Given the description of an element on the screen output the (x, y) to click on. 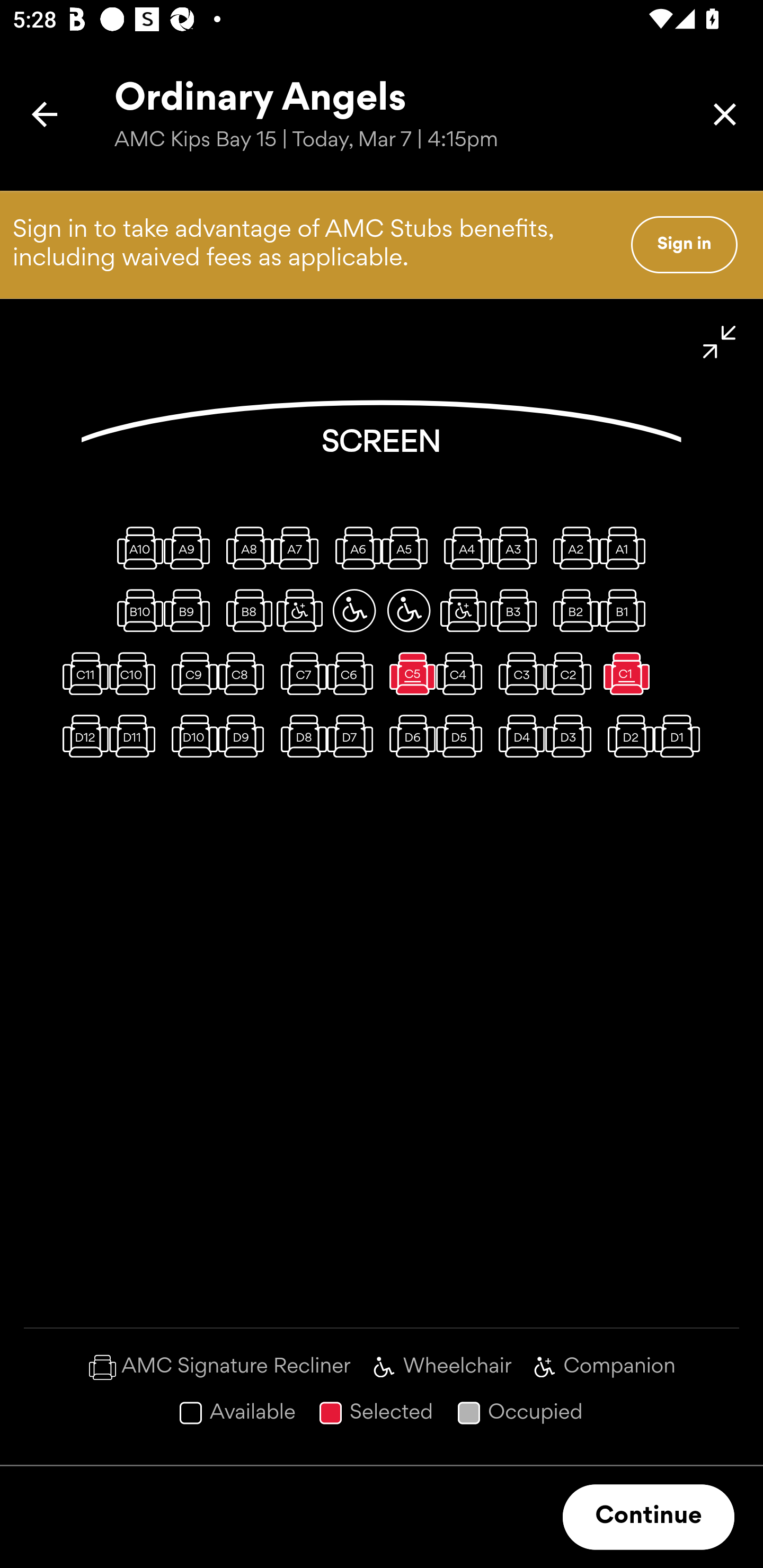
Back (44, 114)
Close (724, 114)
Sign in (684, 244)
Minimize (719, 342)
A10, Regular seat, available (136, 547)
A9, Regular seat, available (190, 547)
A8, Regular seat, available (244, 547)
A7, Regular seat, available (299, 547)
A6, Regular seat, available (353, 547)
A5, Regular seat, available (408, 547)
A4, Regular seat, available (463, 547)
A3, Regular seat, available (517, 547)
A2, Regular seat, available (571, 547)
A1, Regular seat, available (625, 547)
B10, Regular seat, available (136, 610)
B9, Regular seat, available (190, 610)
B8, Regular seat, available (244, 610)
B7, Wheelchair companion seat, available (299, 610)
B6, Wheelchair space, available (353, 610)
B5, Wheelchair space, available (408, 610)
B4, Wheelchair companion seat, available (463, 610)
B3, Regular seat, available (517, 610)
B2, Regular seat, available (571, 610)
B1, Regular seat, available (625, 610)
C11, Regular seat, available (81, 672)
C10, Regular seat, available (136, 672)
C9, Regular seat, available (190, 672)
C8, Regular seat, available (244, 672)
C7, Regular seat, available (299, 672)
C6, Regular seat, available (353, 672)
C5, Regular seat, selected (408, 672)
C4, Regular seat, available (463, 672)
C3, Regular seat, available (517, 672)
C2, Regular seat, available (571, 672)
C1, Regular seat, selected (625, 672)
D12, Regular seat, available (81, 736)
D11, Regular seat, available (136, 736)
D10, Regular seat, available (190, 736)
D9, Regular seat, available (244, 736)
D8, Regular seat, available (299, 736)
D7, Regular seat, available (353, 736)
D6, Regular seat, available (408, 736)
D5, Regular seat, available (463, 736)
D4, Regular seat, available (517, 736)
D3, Regular seat, available (571, 736)
D2, Regular seat, available (625, 736)
D1, Regular seat, available (680, 736)
Continue (648, 1516)
